Given the description of an element on the screen output the (x, y) to click on. 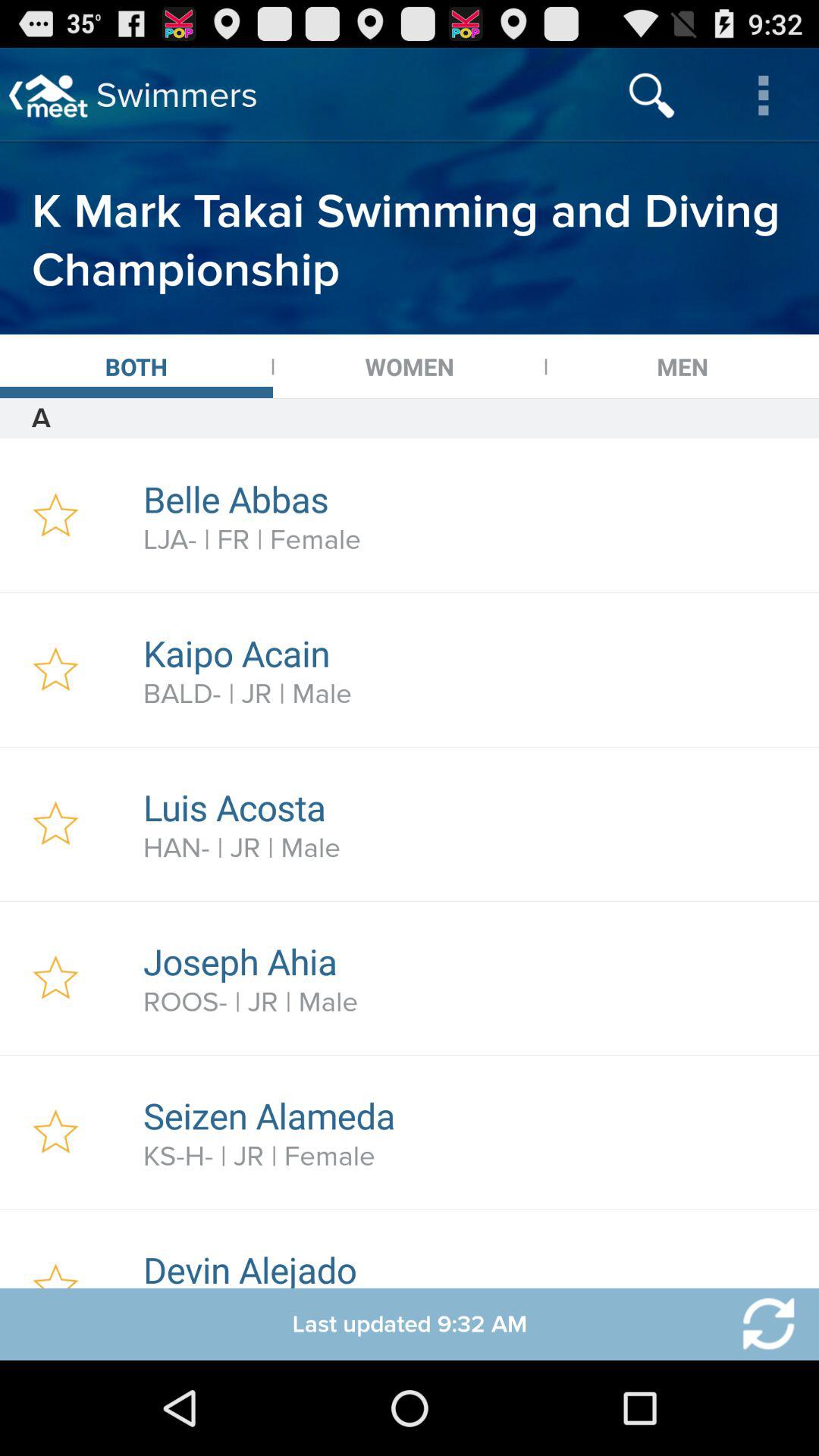
press the item next to the women icon (682, 366)
